Given the description of an element on the screen output the (x, y) to click on. 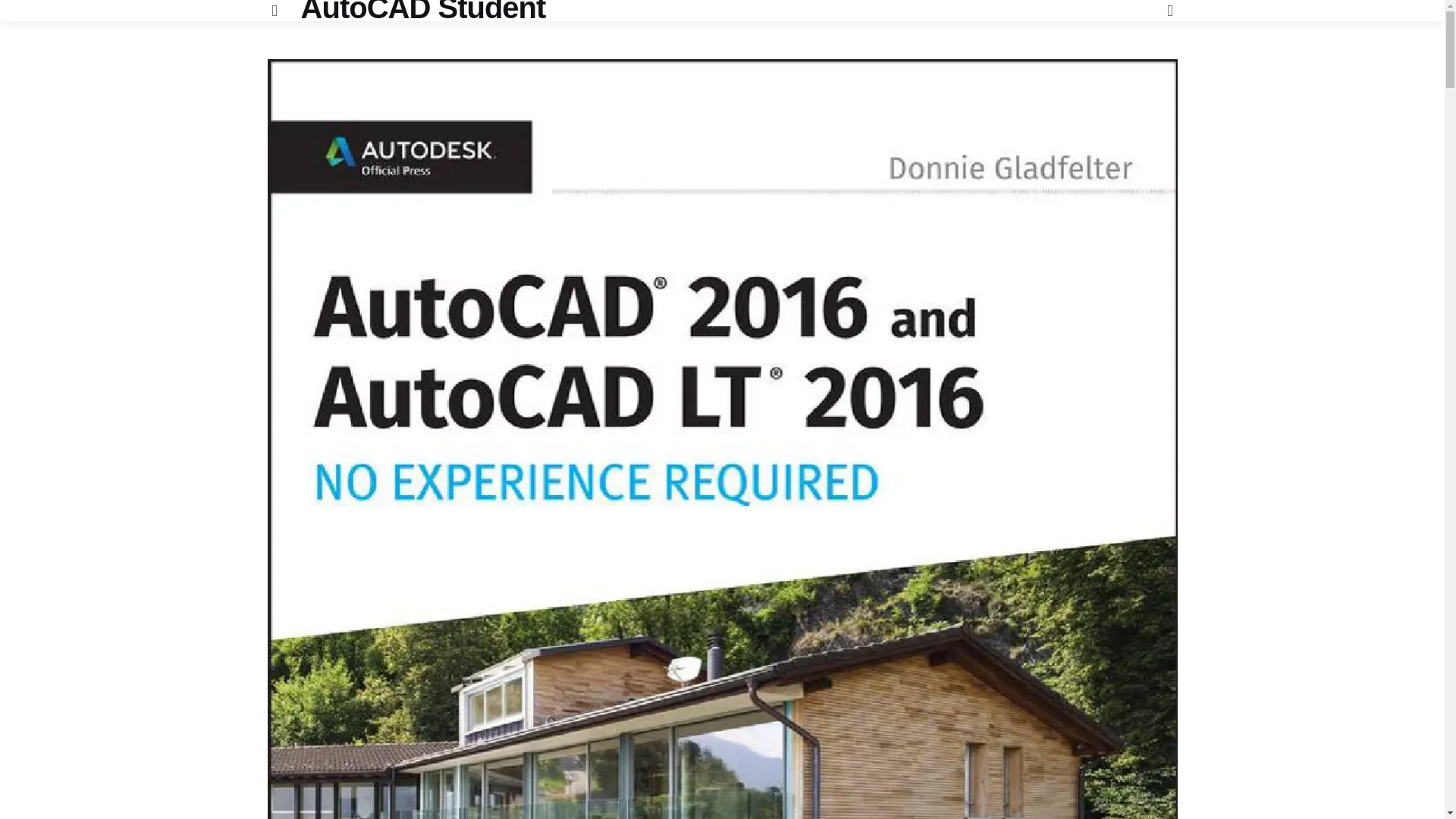
AutoCAD Student (423, 7)
